Given the description of an element on the screen output the (x, y) to click on. 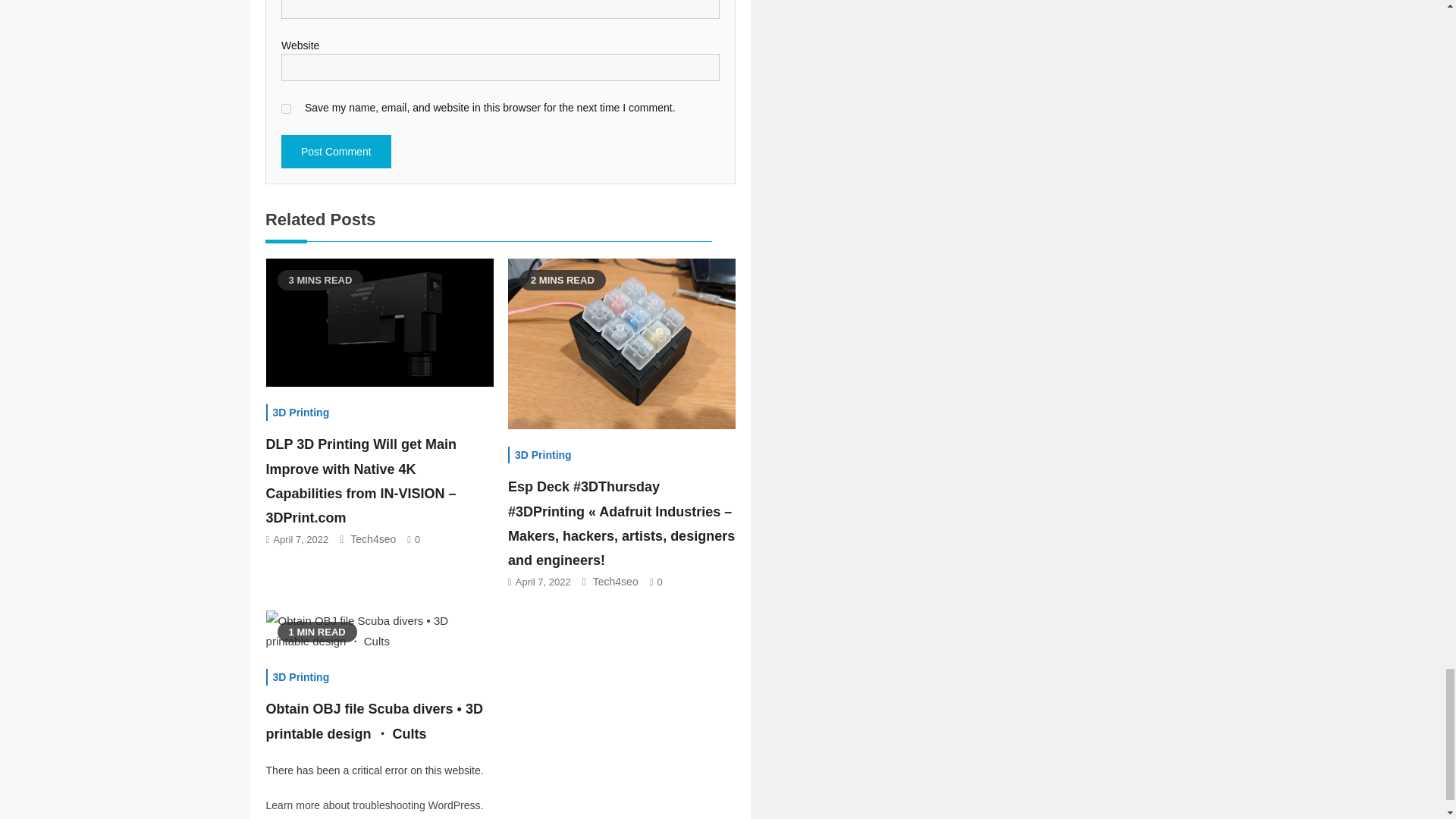
yes (286, 108)
Post Comment (336, 151)
